Given the description of an element on the screen output the (x, y) to click on. 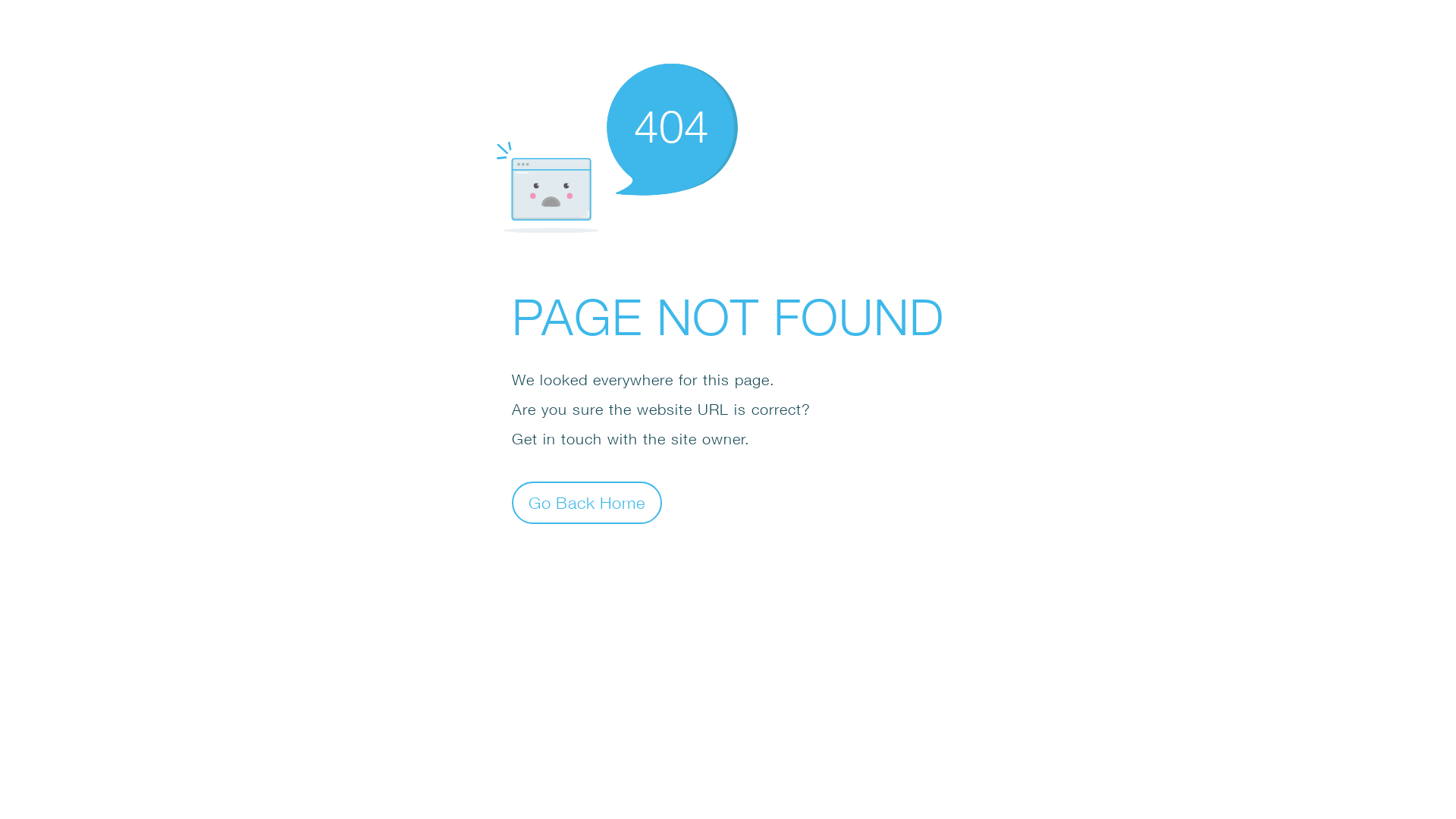
Go Back Home Element type: text (586, 502)
